Given the description of an element on the screen output the (x, y) to click on. 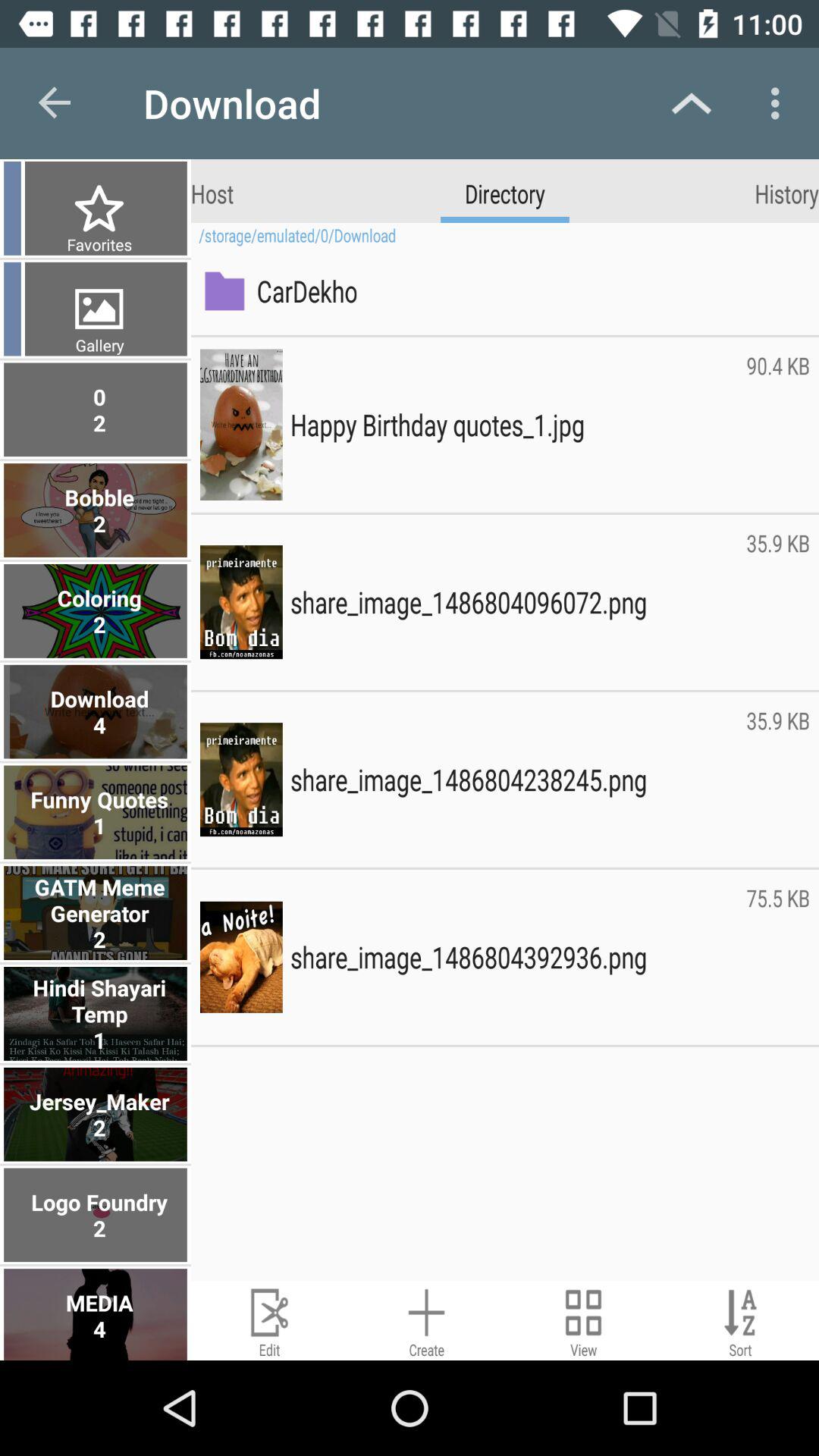
edit pictures (269, 1320)
